Given the description of an element on the screen output the (x, y) to click on. 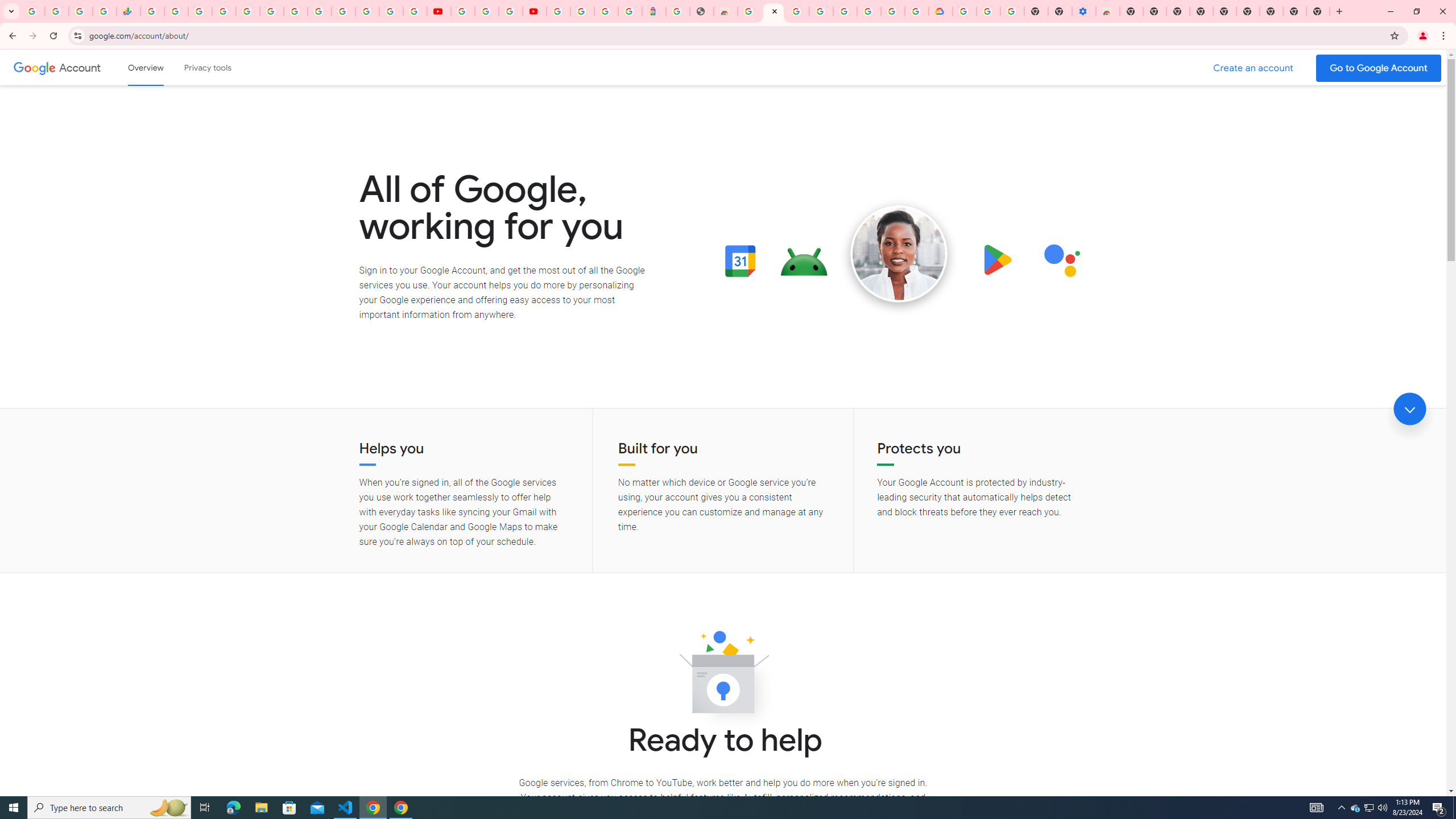
Skip to Content (162, 65)
Google Account Help (988, 11)
Google Account overview (145, 67)
Create a Google Account (1253, 67)
YouTube (438, 11)
YouTube (319, 11)
Sign in - Google Accounts (820, 11)
